Given the description of an element on the screen output the (x, y) to click on. 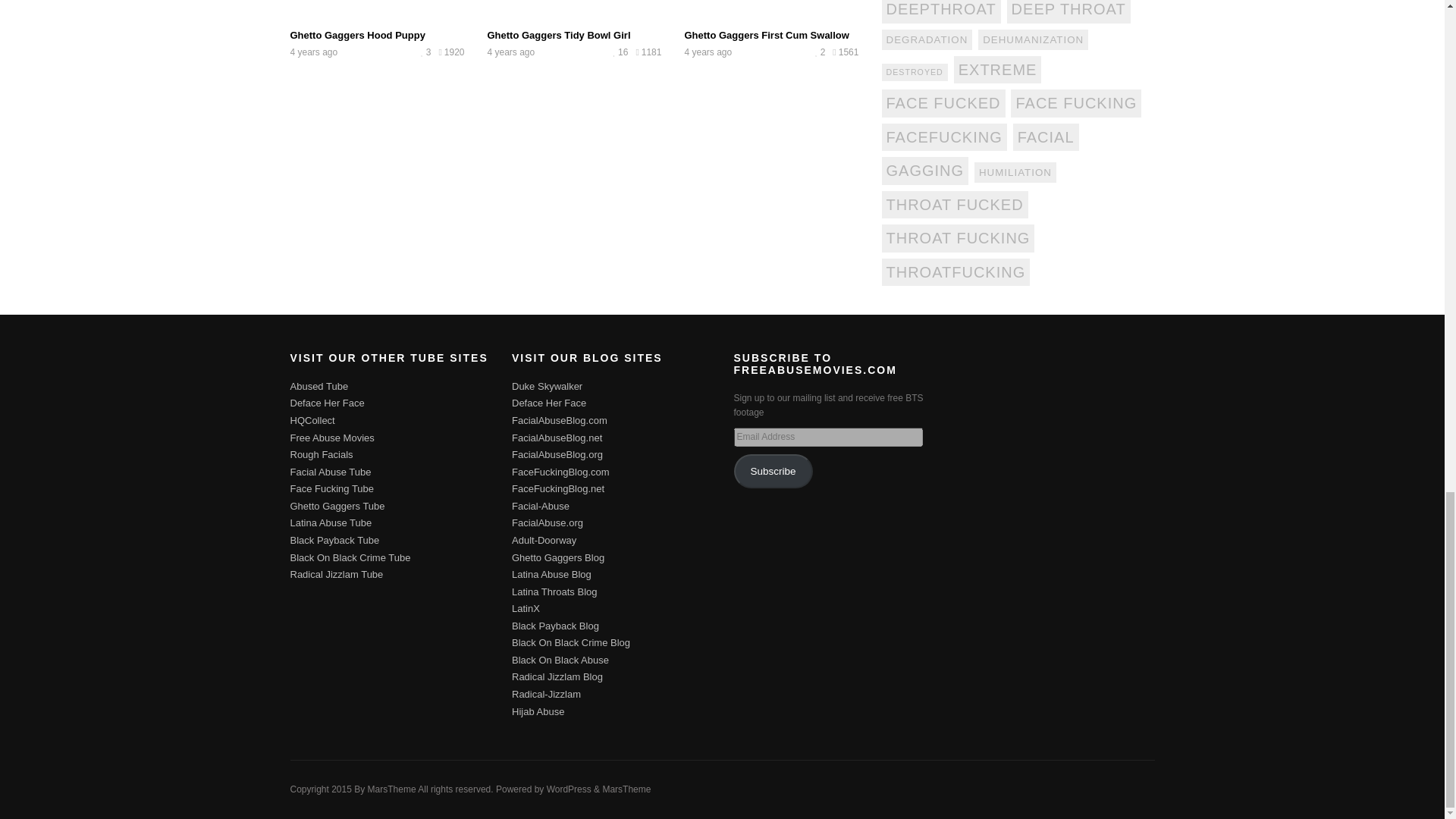
Ghetto Gaggers First Cum Swallow (766, 34)
Ghetto Gaggers Hood Puppy (357, 34)
Ghetto Gaggers Tidy Bowl Girl (558, 34)
